Given the description of an element on the screen output the (x, y) to click on. 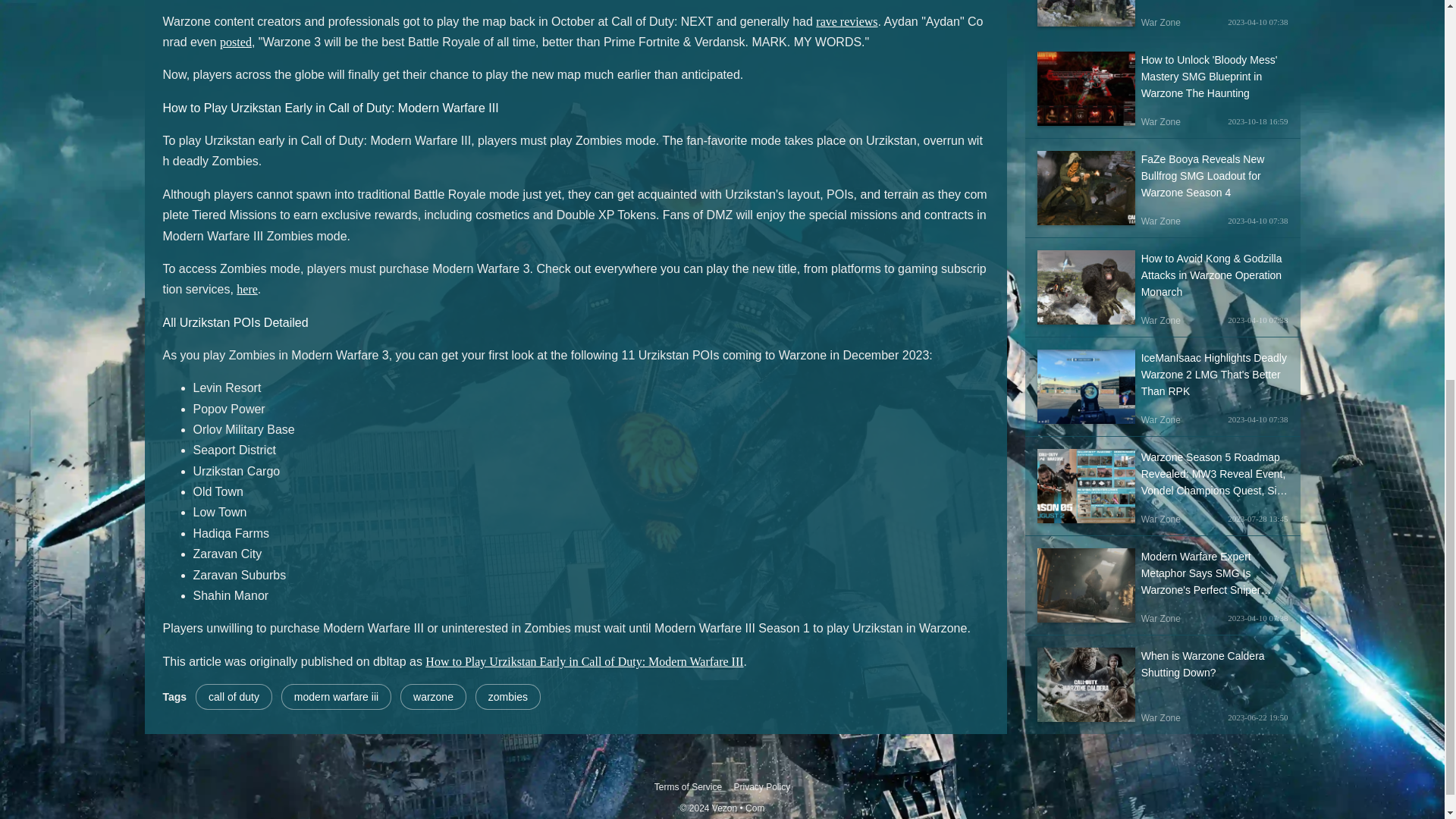
Terms of Service (687, 786)
warzone (432, 696)
call of duty (233, 696)
Privacy Policy (761, 786)
here (246, 288)
modern warfare iii (336, 696)
zombies (508, 696)
rave reviews (846, 21)
posted (235, 42)
